Given the description of an element on the screen output the (x, y) to click on. 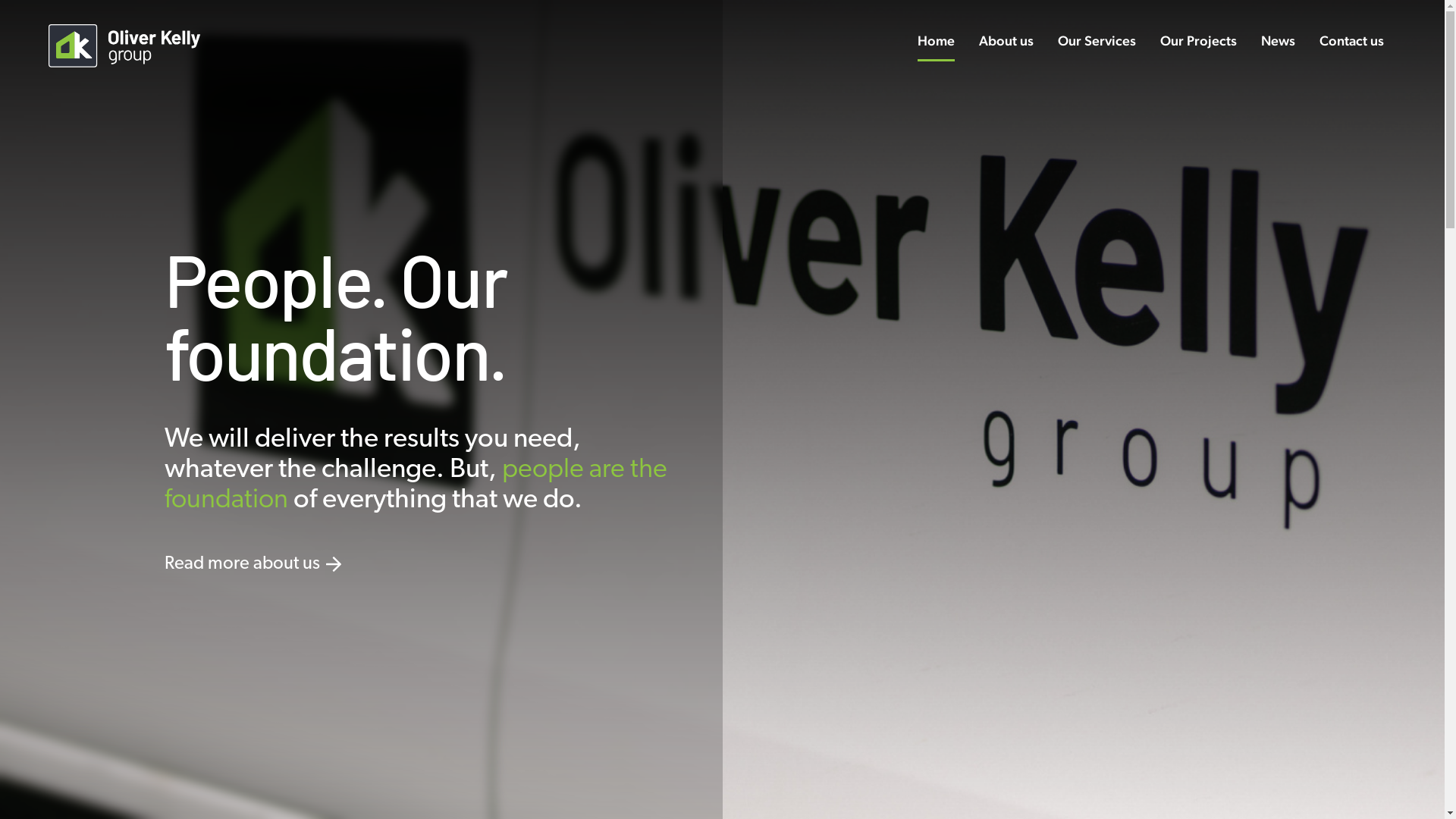
About us Element type: text (1006, 40)
Read more about us Element type: text (241, 564)
News Element type: text (1278, 40)
Our Services Element type: text (1096, 40)
Home Element type: text (935, 40)
Contact us Element type: text (1351, 40)
Oliver Kelly Group Element type: hover (124, 45)
Our Projects Element type: text (1198, 40)
